Given the description of an element on the screen output the (x, y) to click on. 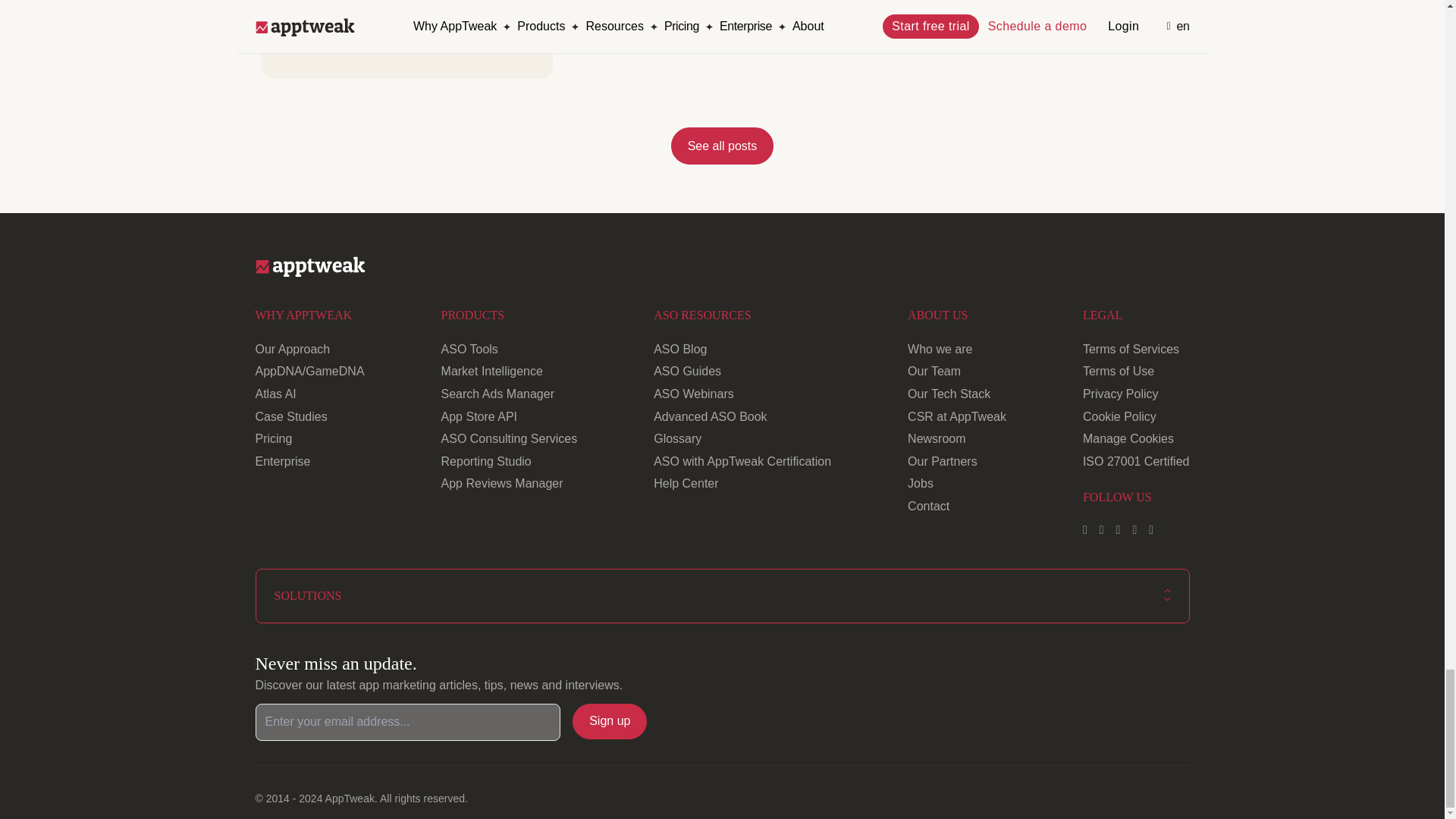
Sign up (609, 720)
